Given the description of an element on the screen output the (x, y) to click on. 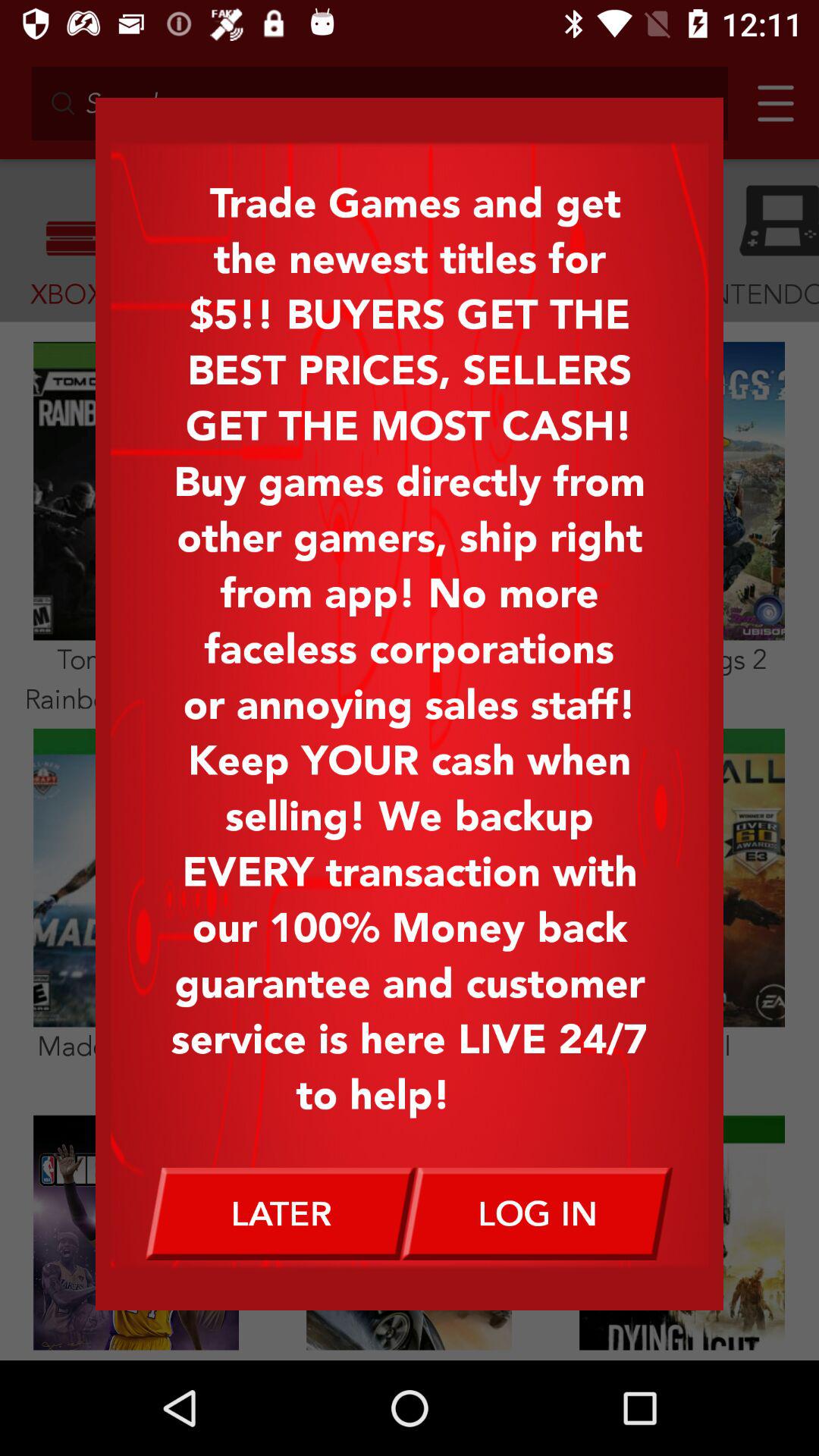
swipe until later (280, 1213)
